Given the description of an element on the screen output the (x, y) to click on. 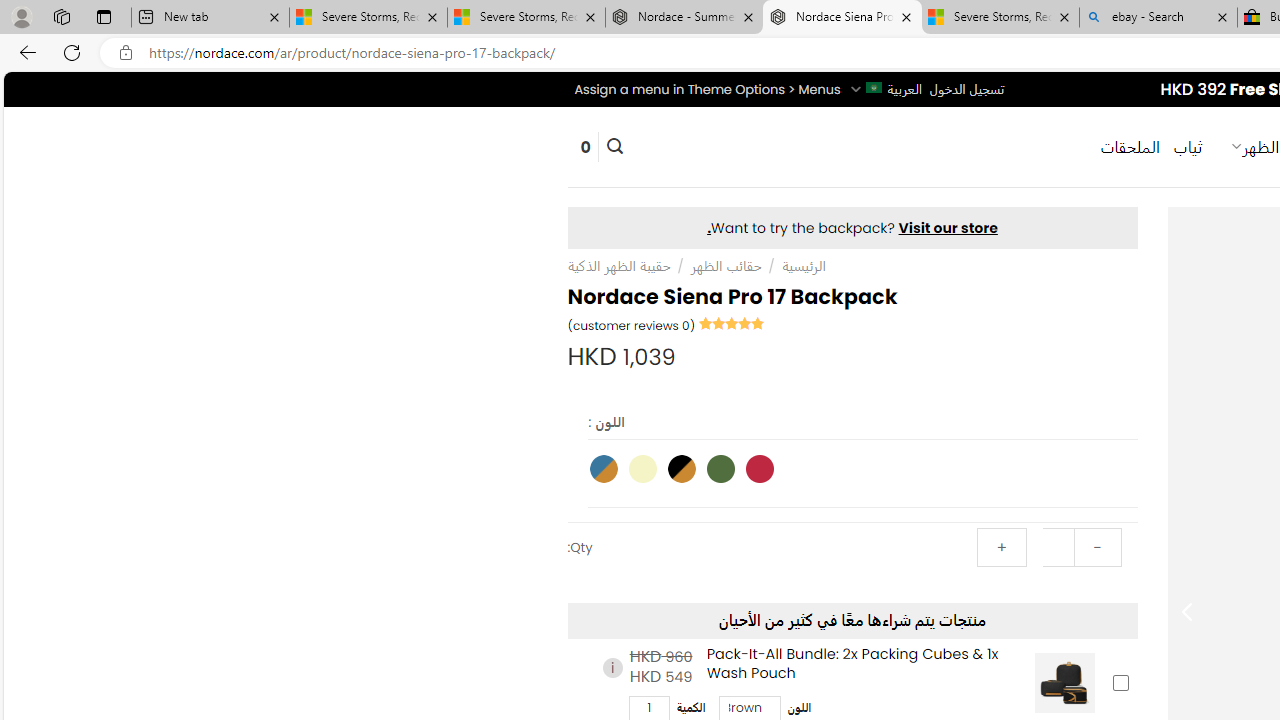
Visit our store. (852, 228)
